Given the description of an element on the screen output the (x, y) to click on. 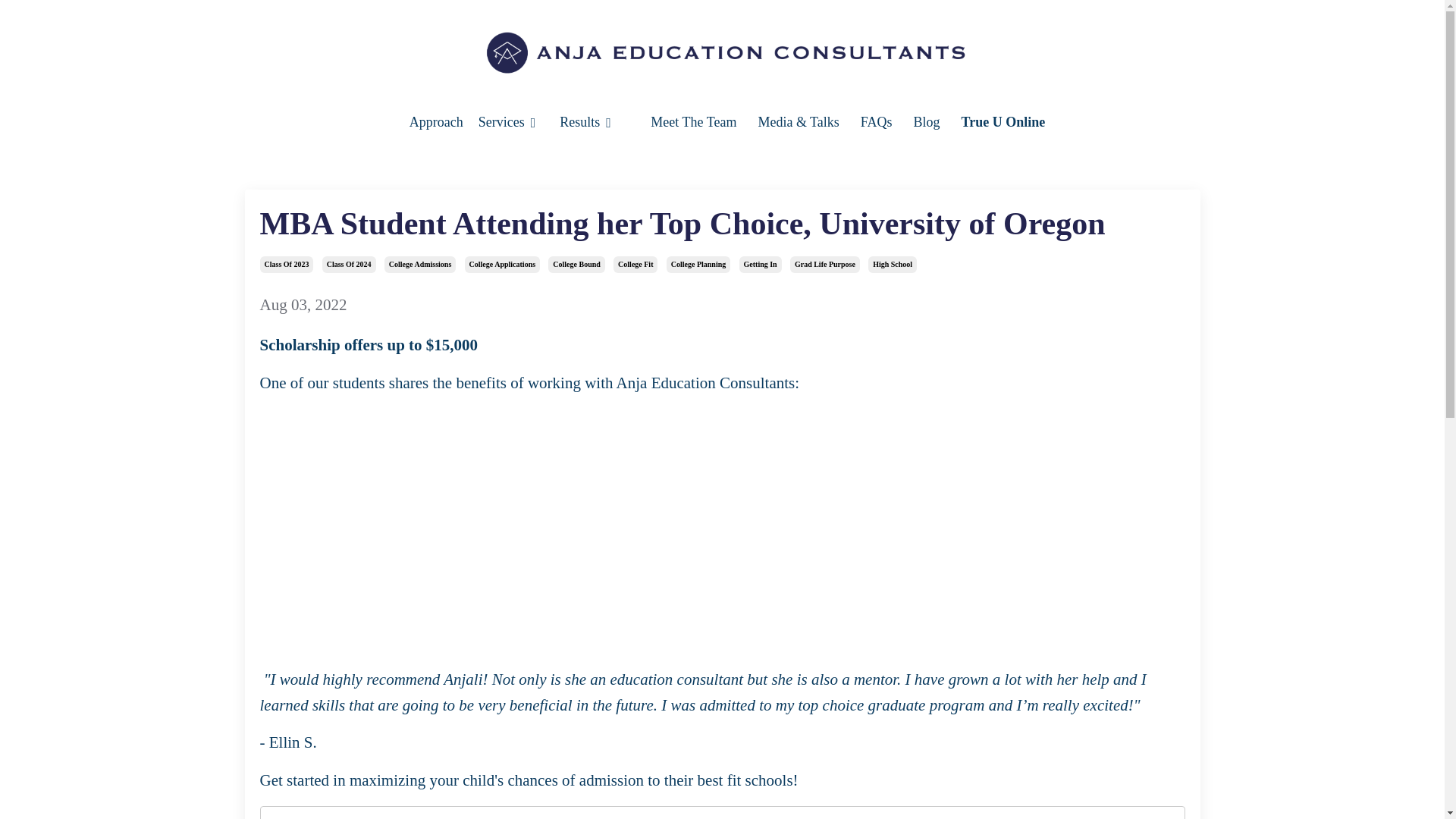
Class Of 2024 (348, 264)
Services (501, 122)
Results (579, 122)
Class Of 2023 (286, 264)
True U Online (1002, 122)
Meet The Team (693, 122)
Approach (436, 122)
High School (892, 264)
College Bound (576, 264)
YouTube video player (721, 527)
